Given the description of an element on the screen output the (x, y) to click on. 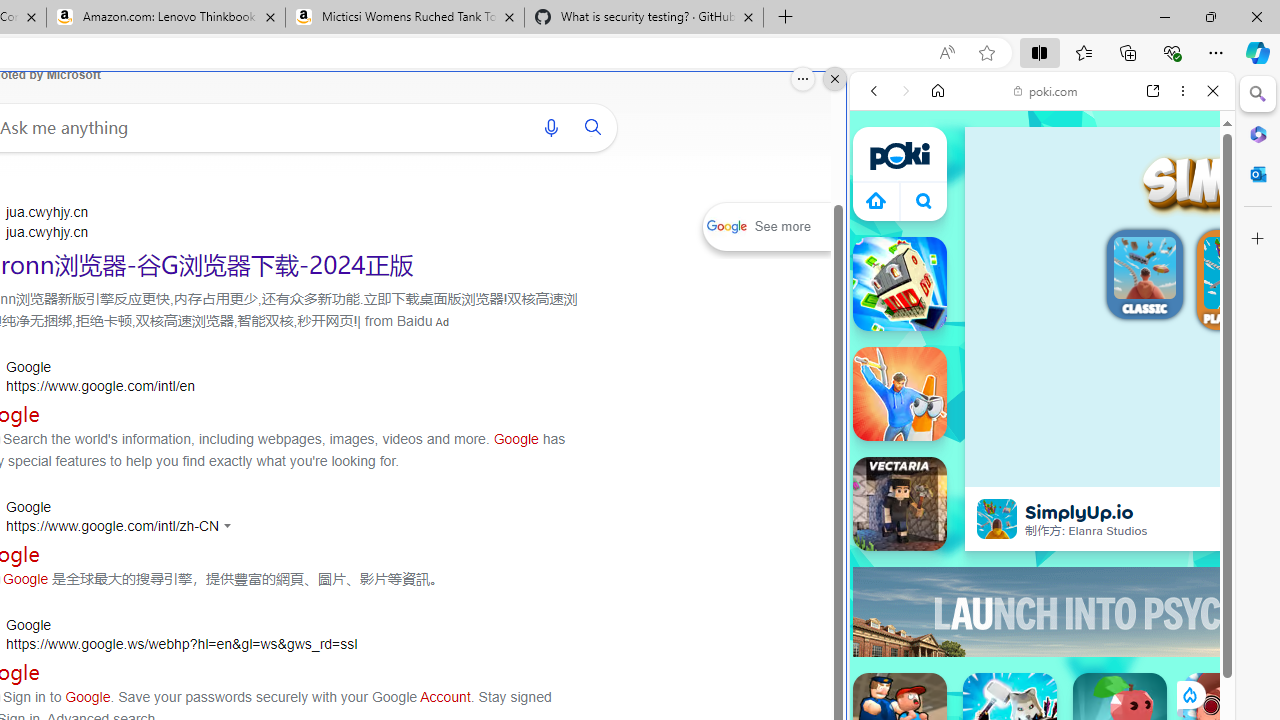
Stack City Stack City (899, 283)
Sports Games (1042, 665)
Two Player Games (1042, 568)
Class: aprWdaSScyiJf4Jvmsx9 (875, 200)
Simply Prop Hunt (899, 393)
Poki - Free Online Games - Play Now! (1034, 309)
